Given the description of an element on the screen output the (x, y) to click on. 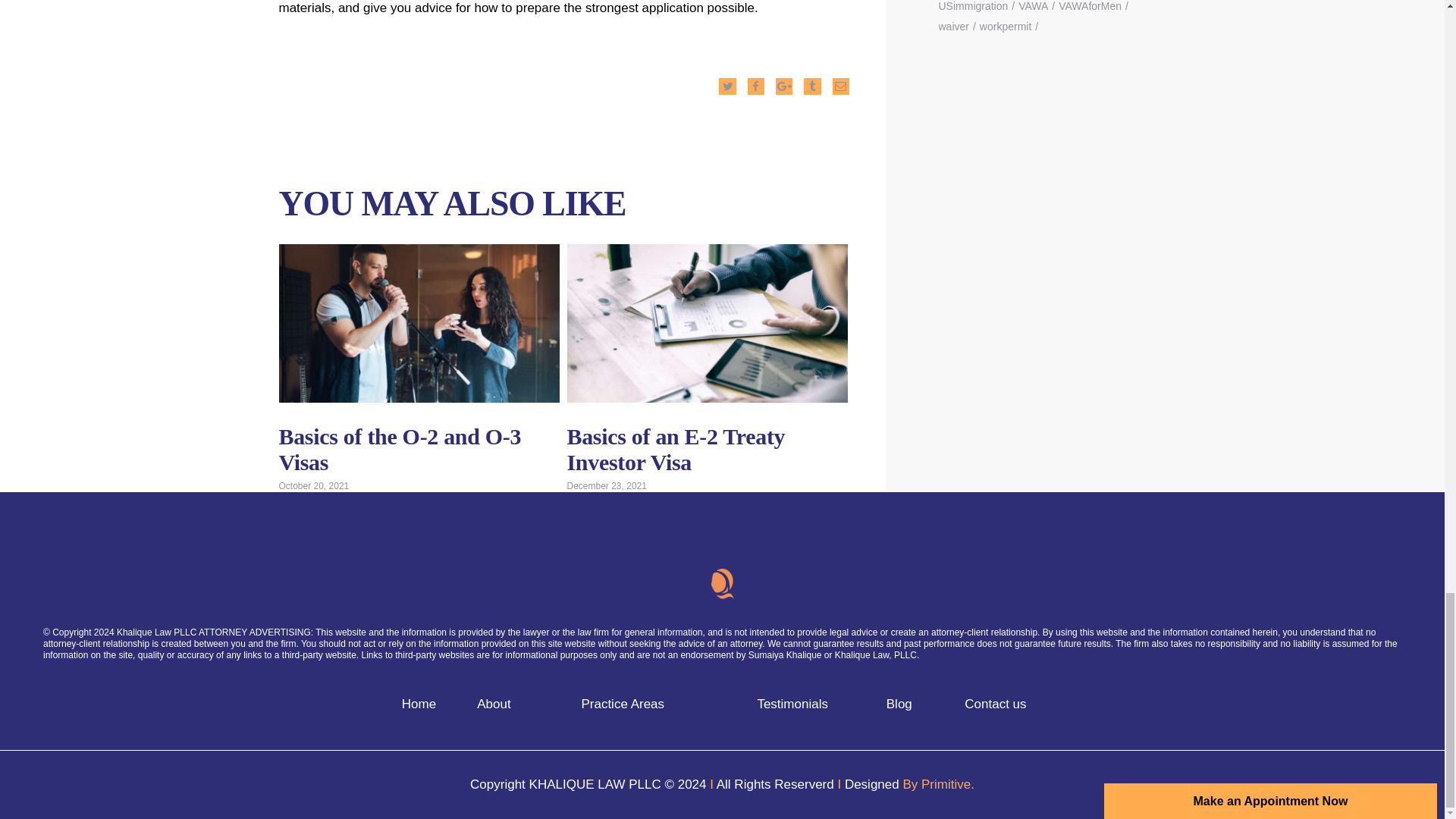
Basics of the O-2 and O-3 Visas (419, 323)
Basics of an E-2 Treaty Investor Visa (707, 323)
Khalique-Icon (722, 583)
